Given the description of an element on the screen output the (x, y) to click on. 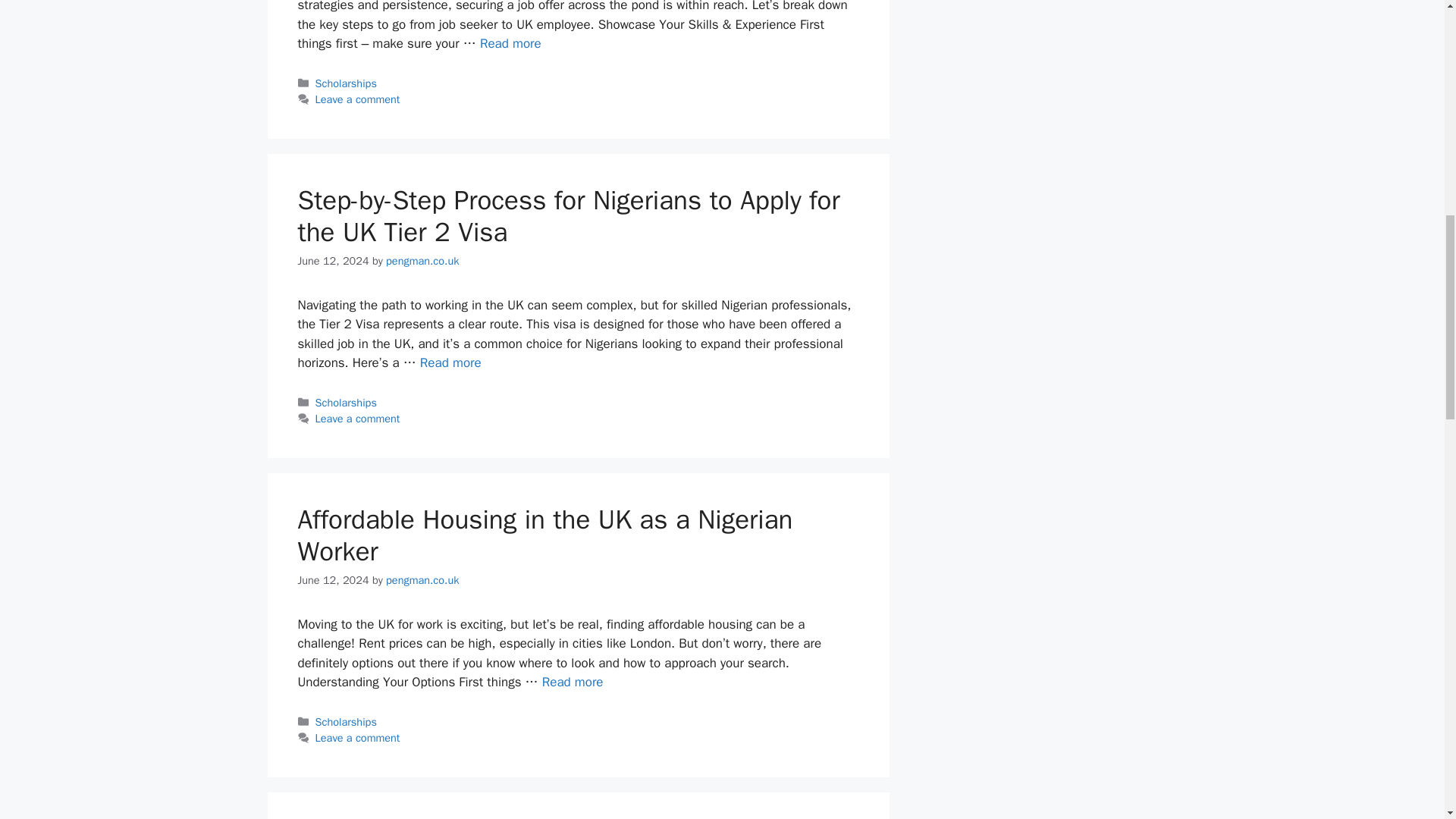
Leave a comment (357, 737)
Affordable Housing in the UK as a Nigerian Worker (544, 535)
Read more (450, 362)
Read more (572, 682)
Scholarships (346, 402)
pengman.co.uk (421, 260)
Read more (510, 43)
Leave a comment (357, 99)
Scholarships (346, 721)
Scholarships (346, 83)
Leave a comment (357, 418)
View all posts by pengman.co.uk (421, 260)
View all posts by pengman.co.uk (421, 580)
